Given the description of an element on the screen output the (x, y) to click on. 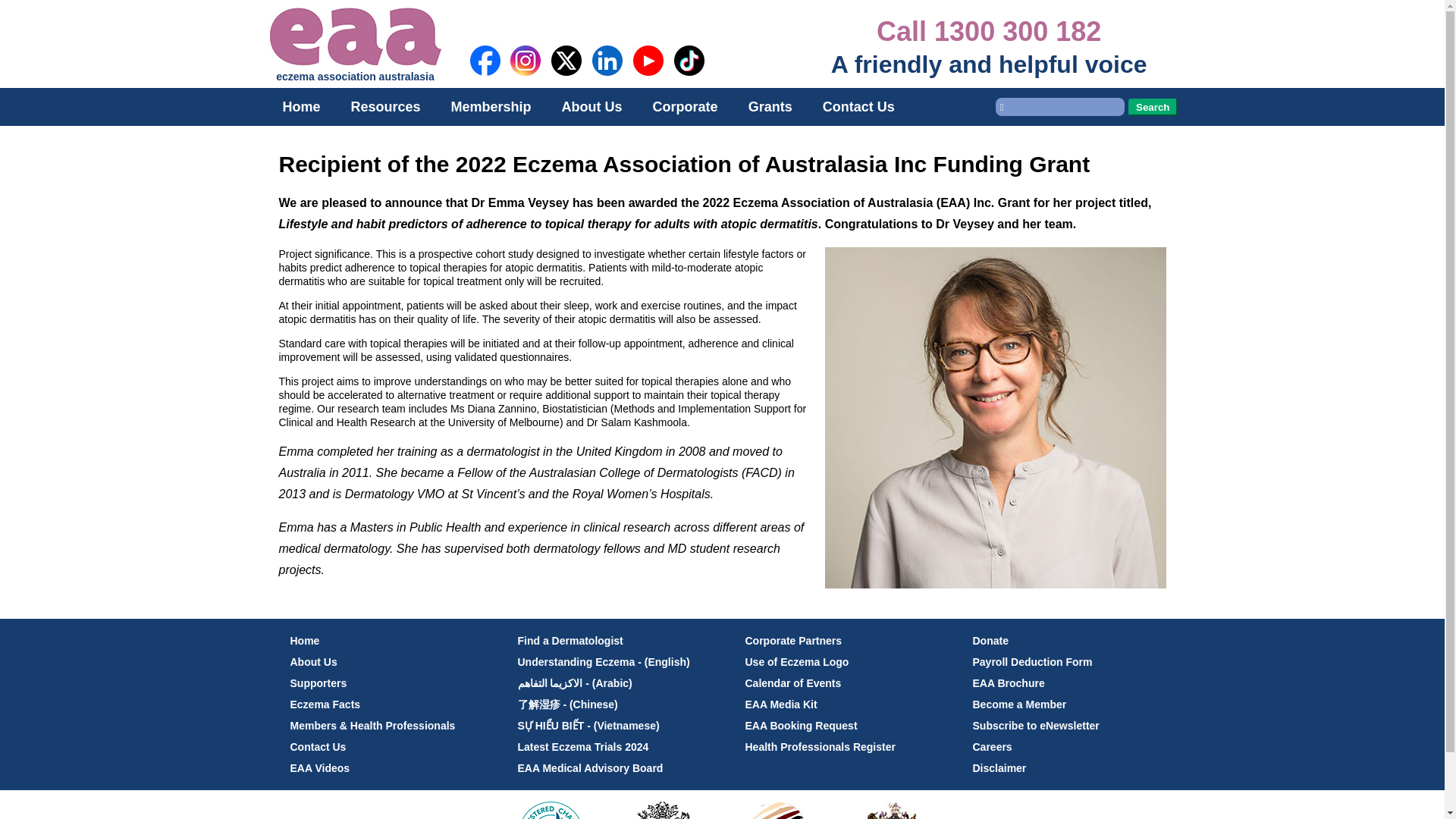
Eczema Association of Australasia Inc Youtube (647, 79)
Corporate (685, 106)
Eczema Association of Australasia Inc Tiktok (688, 79)
Call 1300 300 182 (988, 30)
Resources (385, 106)
Home (300, 106)
Membership (491, 106)
Eczema Association of Australasia Inc Tiktok (689, 60)
Eczema Association of Australasia Inc Facebook (484, 79)
Call 1300 300 182 (988, 30)
Eczema Association of Australasia Inc Linkedin (607, 60)
Eczema Association of Australasia Inc Facebook (485, 60)
Eczema Association of Australasia Inc Linkedin (607, 79)
Eczema Association of Australasia Inc Twitter (566, 79)
Eczema Association of Australasia Inc Instagram (525, 60)
